Given the description of an element on the screen output the (x, y) to click on. 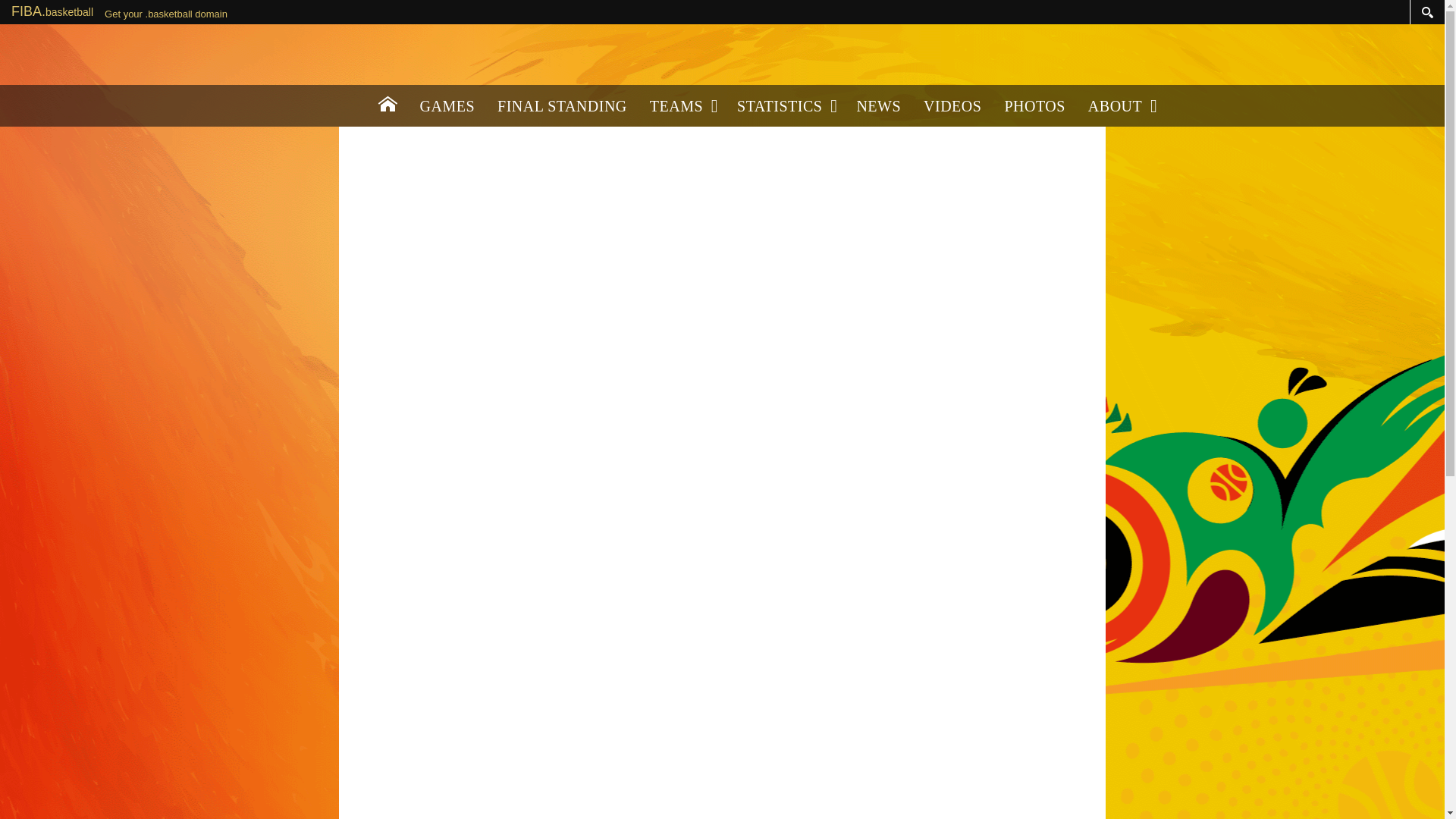
ABOUT (1120, 105)
GAMES (446, 105)
Get your .basketball domain (165, 13)
NEWS (878, 105)
VIDEOS (952, 105)
PHOTOS (1033, 105)
FINAL STANDING (562, 105)
STATISTICS (784, 105)
TEAMS (682, 105)
FIBA.basketball (52, 11)
